Given the description of an element on the screen output the (x, y) to click on. 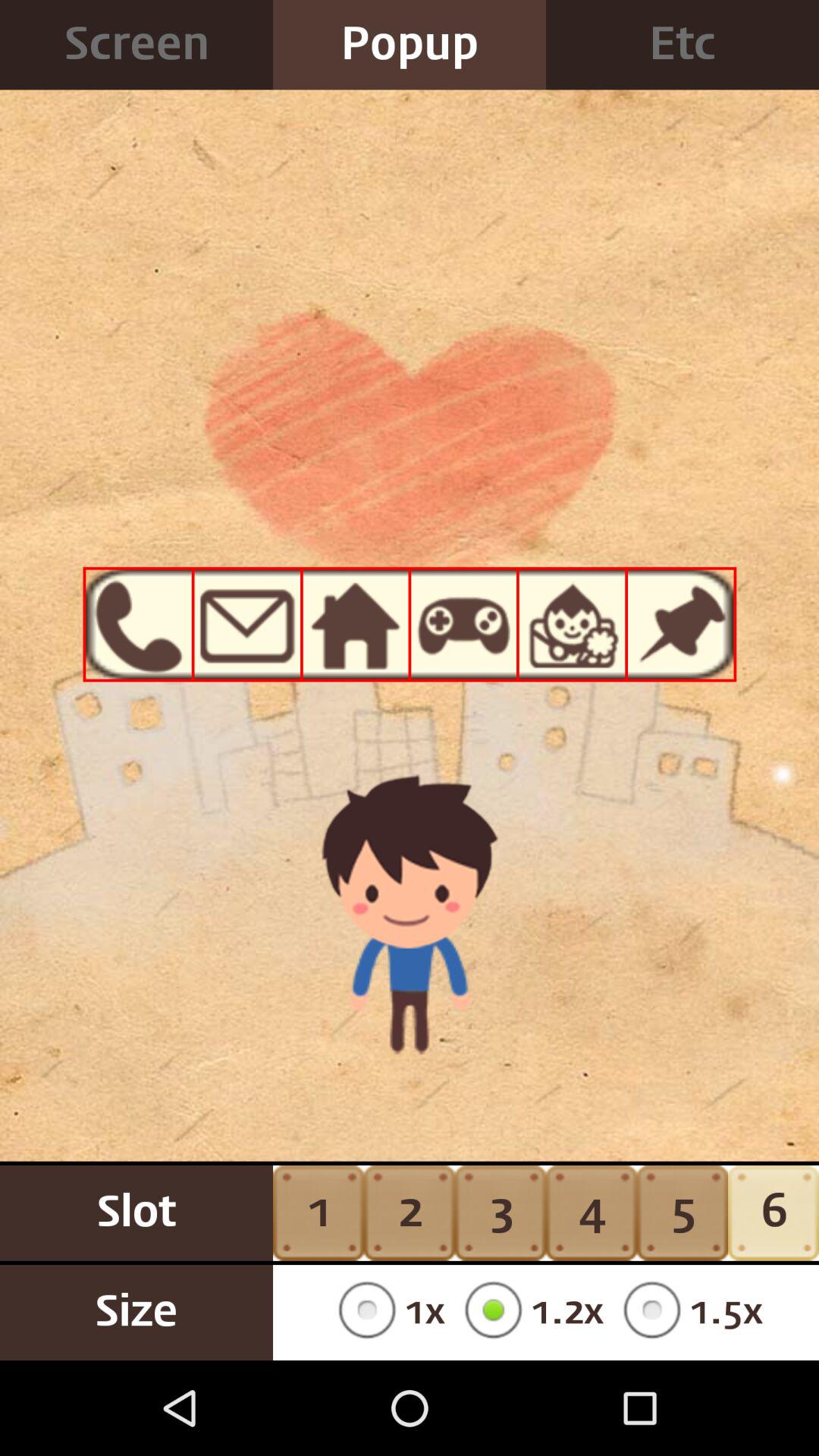
swipe until the 1x radio button (386, 1312)
